Given the description of an element on the screen output the (x, y) to click on. 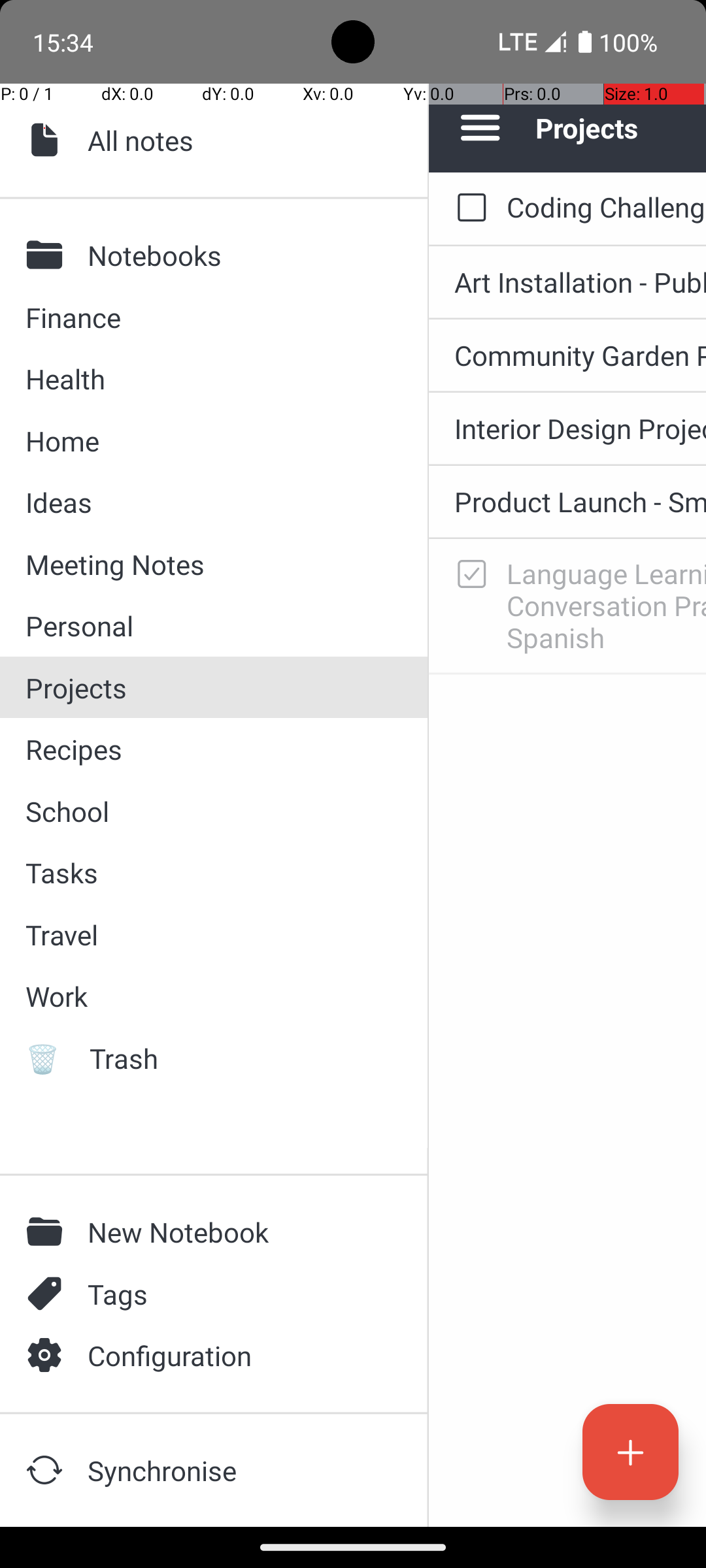
 Element type: android.widget.TextView (47, 254)
Notebooks Element type: android.widget.TextView (235, 254)
 Element type: android.widget.TextView (47, 1231)
New Notebook Element type: android.widget.TextView (235, 1231)
 Element type: android.widget.TextView (47, 1293)
 Element type: android.widget.TextView (47, 1354)
Configuration Element type: android.widget.TextView (235, 1354)
 Element type: android.widget.TextView (47, 1469)
Synchronise Element type: android.widget.TextView (235, 1469)
to-do: Coding Challenge - Machine Learning Algorithm Element type: android.widget.CheckBox (467, 208)
Art Installation - Public Sculpture Element type: android.widget.TextView (580, 281)
Community Garden Project Element type: android.widget.TextView (580, 354)
Interior Design Project - Living Room Makeover Element type: android.widget.TextView (580, 427)
Product Launch - Smart Home Device Element type: android.widget.TextView (580, 501)
to-do: Language Learning Project - Spanish Conversation Practice PlanConversational Spanish Element type: android.widget.CheckBox (467, 574)
Language Learning Project - Spanish Conversation Practice PlanConversational Spanish Element type: android.widget.TextView (606, 604)
 Element type: android.widget.TextView (47, 139)
🗑️ Element type: android.widget.TextView (48, 1057)
